Given the description of an element on the screen output the (x, y) to click on. 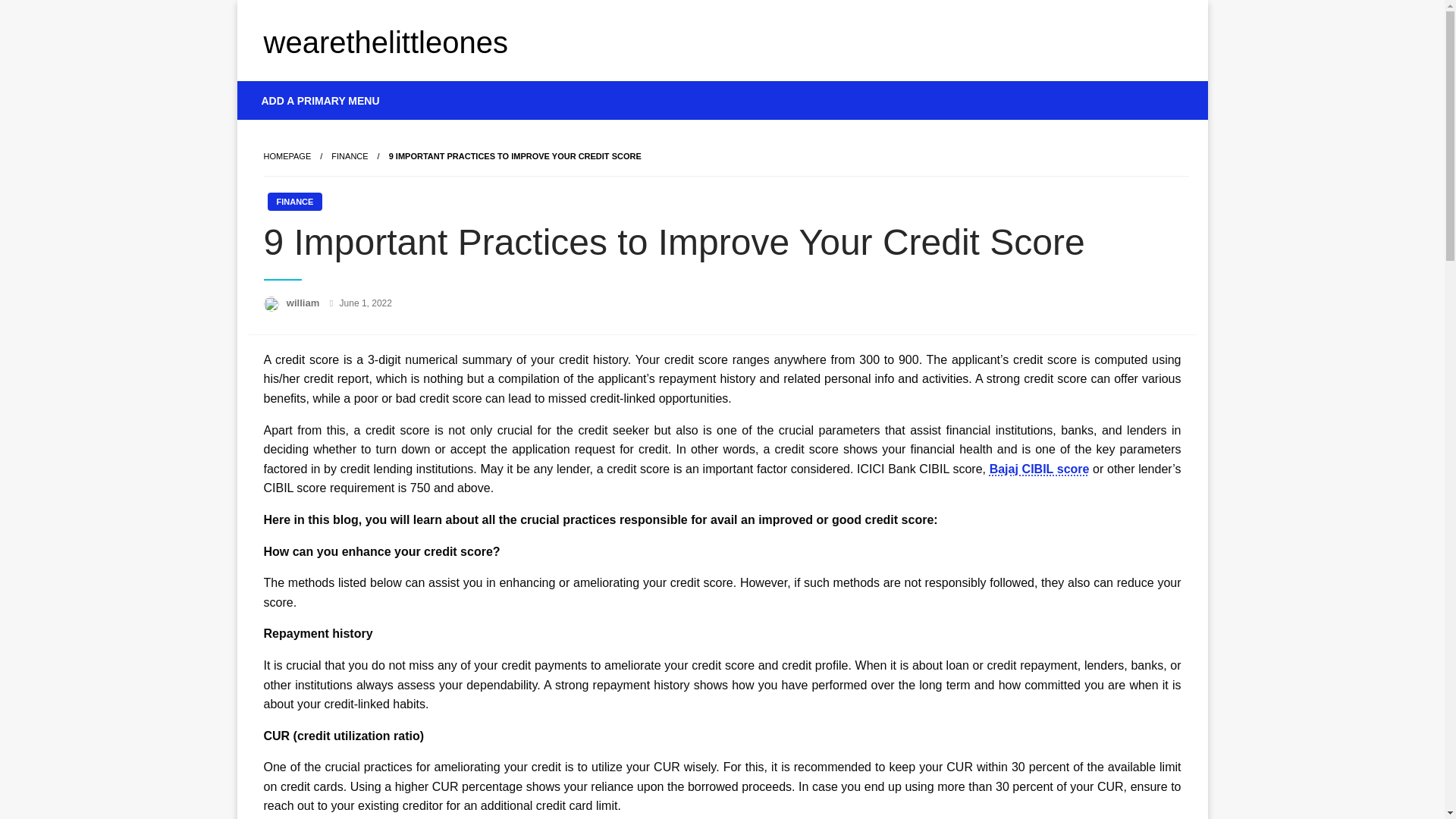
william (303, 302)
June 1, 2022 (365, 303)
wearethelittleones (385, 41)
HOMEPAGE (287, 155)
9 Important Practices to Improve Your Credit Score (515, 155)
FINANCE (293, 201)
Homepage (287, 155)
william (303, 302)
Finance (349, 155)
FINANCE (349, 155)
